Given the description of an element on the screen output the (x, y) to click on. 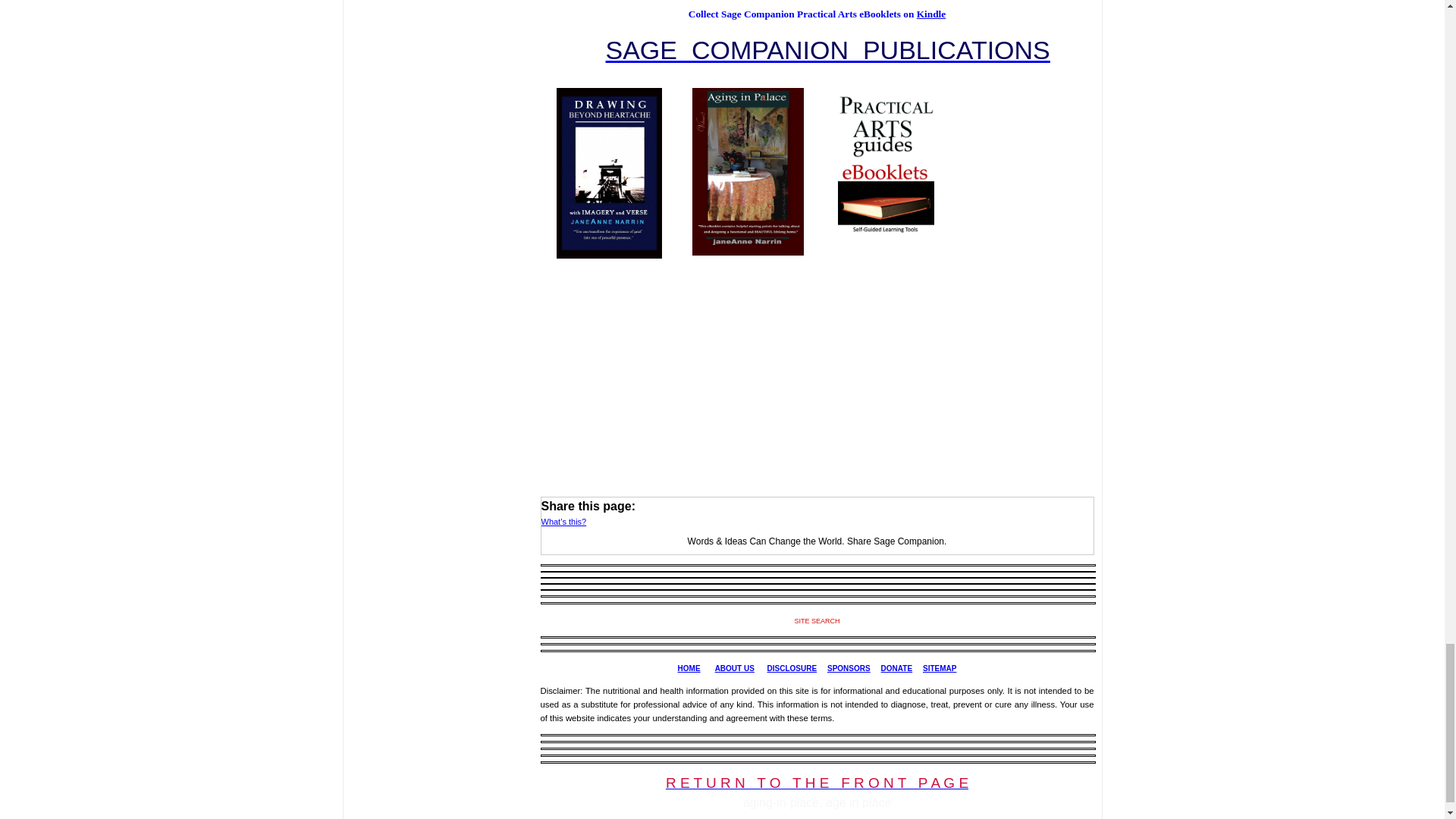
SITEMAP (939, 668)
SAGE  COMPANION  PUBLICATIONS (827, 50)
ABOUT US (734, 668)
DISCLOSURE (791, 668)
SPONSORS (848, 668)
DONATE (896, 668)
Kindle (931, 13)
HOME (689, 668)
R E T U R N   T O   T H E   F R O N T   P A G E (816, 784)
